Given the description of an element on the screen output the (x, y) to click on. 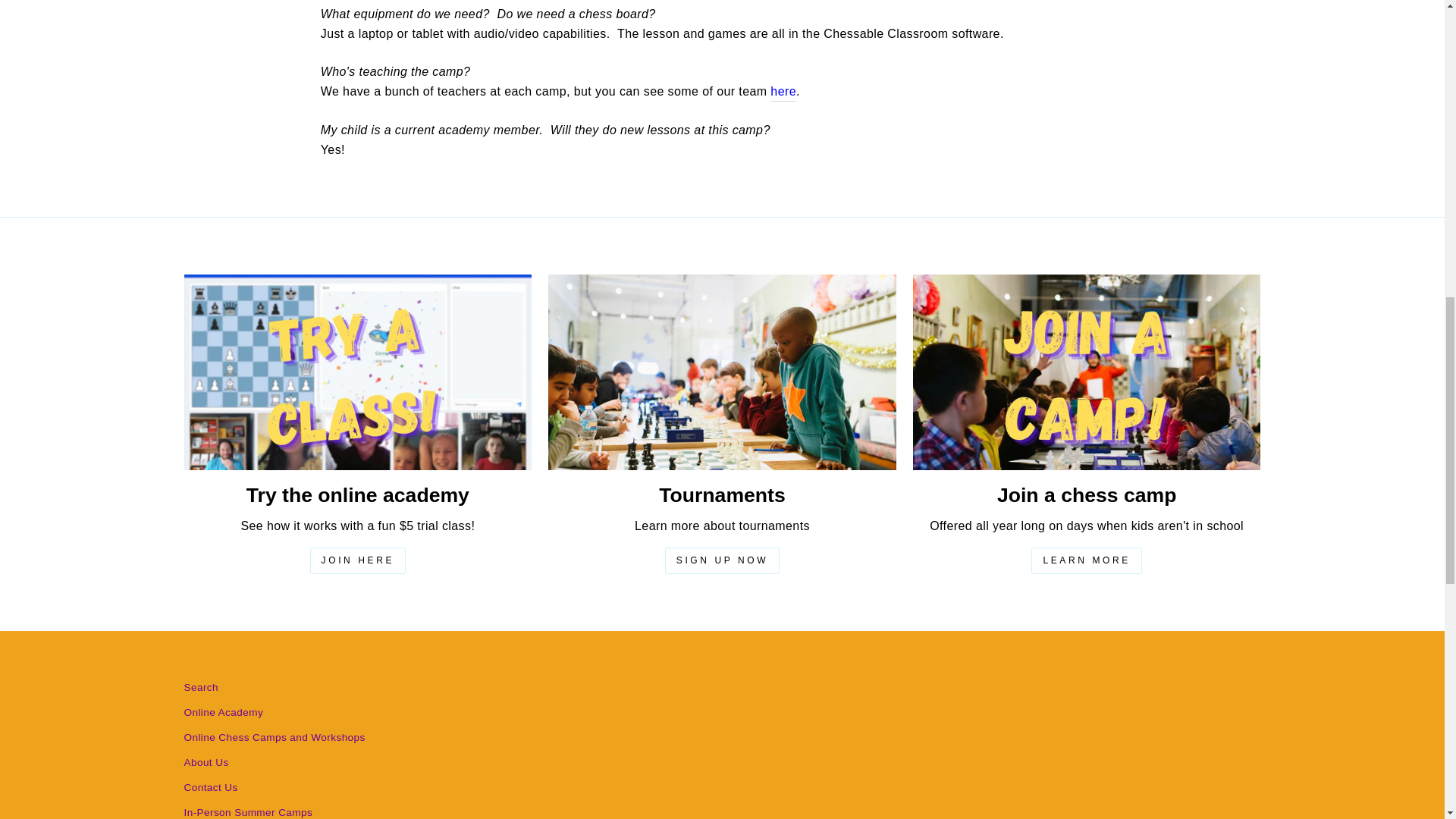
scholastic chess camp coaches (783, 91)
